Given the description of an element on the screen output the (x, y) to click on. 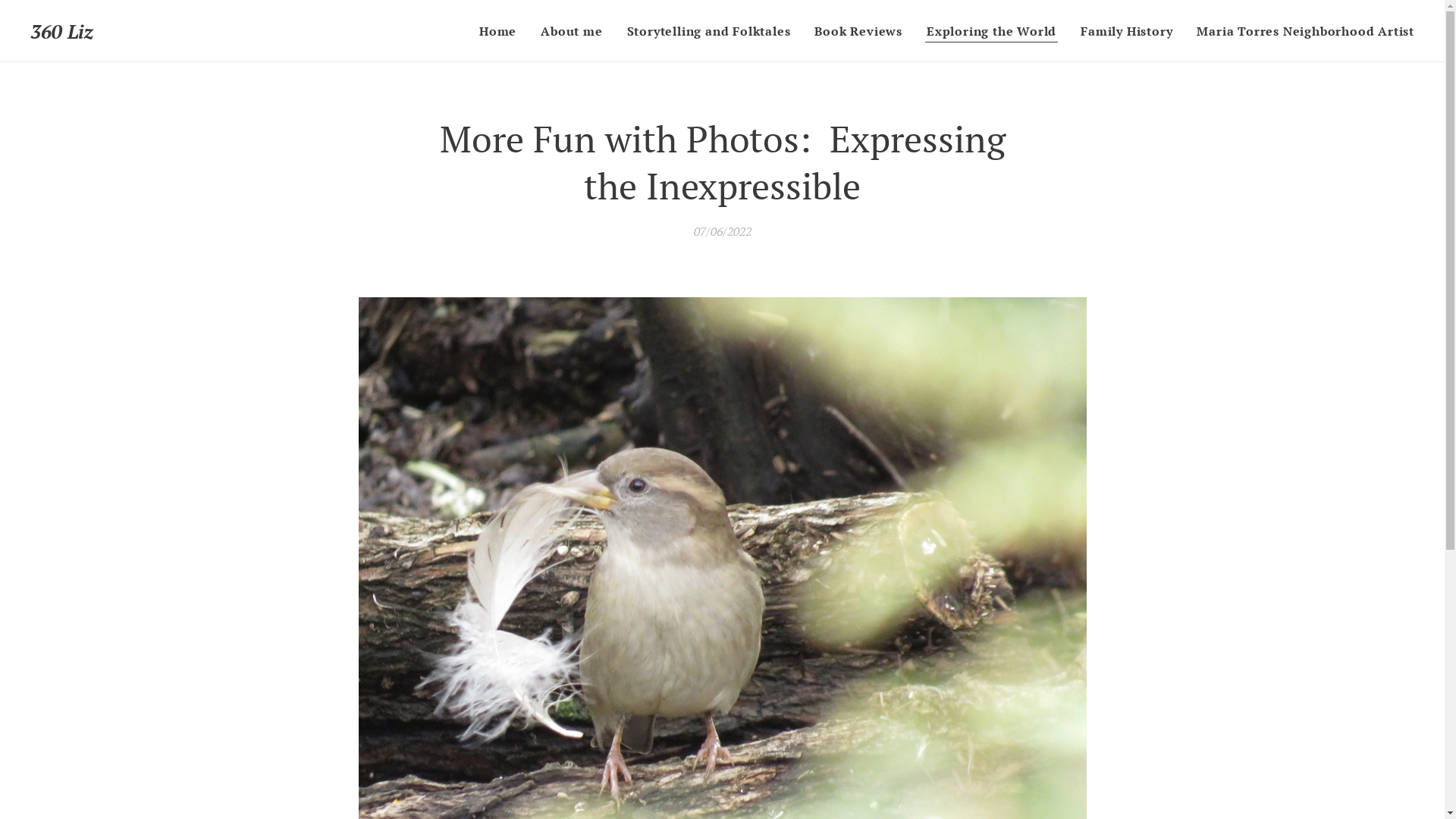
Book Reviews Element type: text (858, 31)
Family History Element type: text (1126, 31)
360 Liz Element type: text (61, 31)
About me Element type: text (571, 31)
Maria Torres Neighborhood Artist Element type: text (1299, 31)
Exploring the World Element type: text (991, 31)
Home Element type: text (501, 31)
Storytelling and Folktales Element type: text (709, 31)
